Given the description of an element on the screen output the (x, y) to click on. 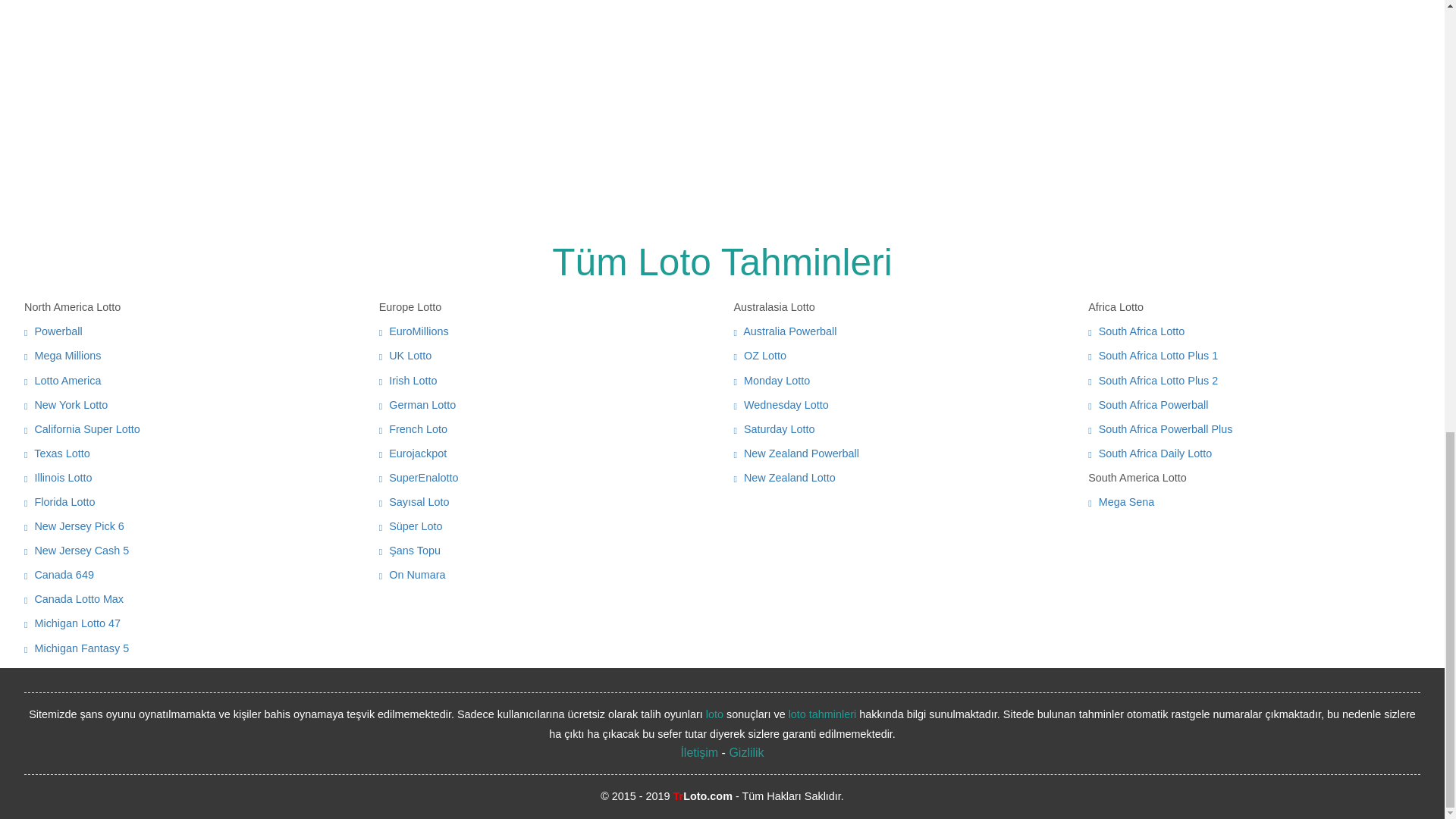
New York Lotto (65, 404)
Florida Lotto (59, 501)
SuperEnalotto (418, 477)
Irish Lotto (408, 380)
Eurojackpot (412, 453)
French Loto (412, 428)
Lotto America (62, 380)
California Super Lotto (81, 428)
Texas Lotto (57, 453)
Illinois Lotto (57, 477)
Canada Lotto Max (73, 598)
New Jersey Cash 5 (76, 550)
Canada 649 (59, 574)
UK Lotto (404, 355)
